Given the description of an element on the screen output the (x, y) to click on. 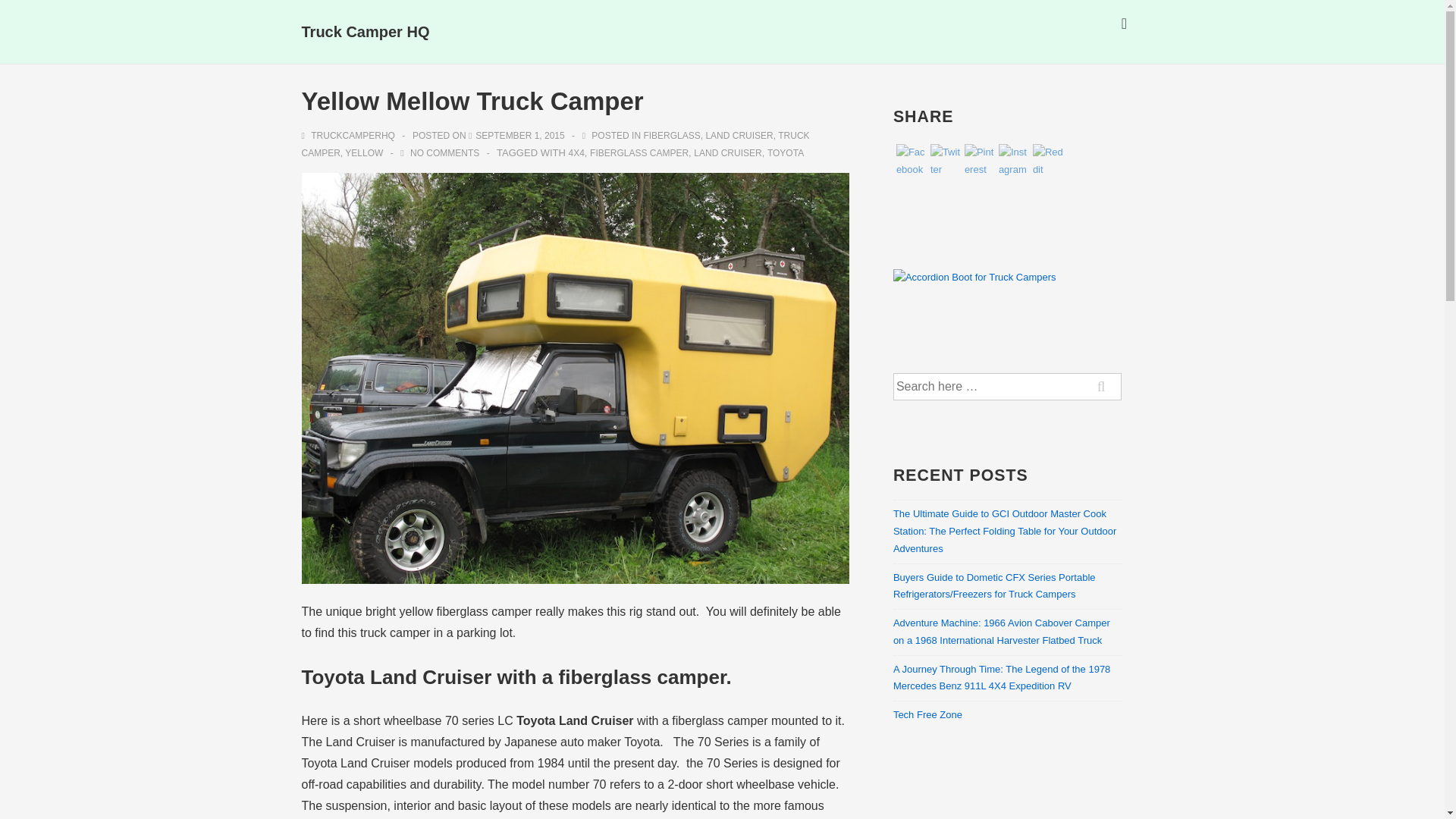
FIBERGLASS CAMPER (638, 153)
Yellow Mellow Truck Camper (520, 135)
SEPTEMBER 1, 2015 (520, 135)
TRUCKCAMPERHQ (349, 135)
YELLOW (363, 153)
FIBERGLASS (671, 135)
NO COMMENTS (444, 153)
Truck Camper HQ (365, 31)
View all posts by truckcamperhq (349, 135)
4X4 (575, 153)
